Given the description of an element on the screen output the (x, y) to click on. 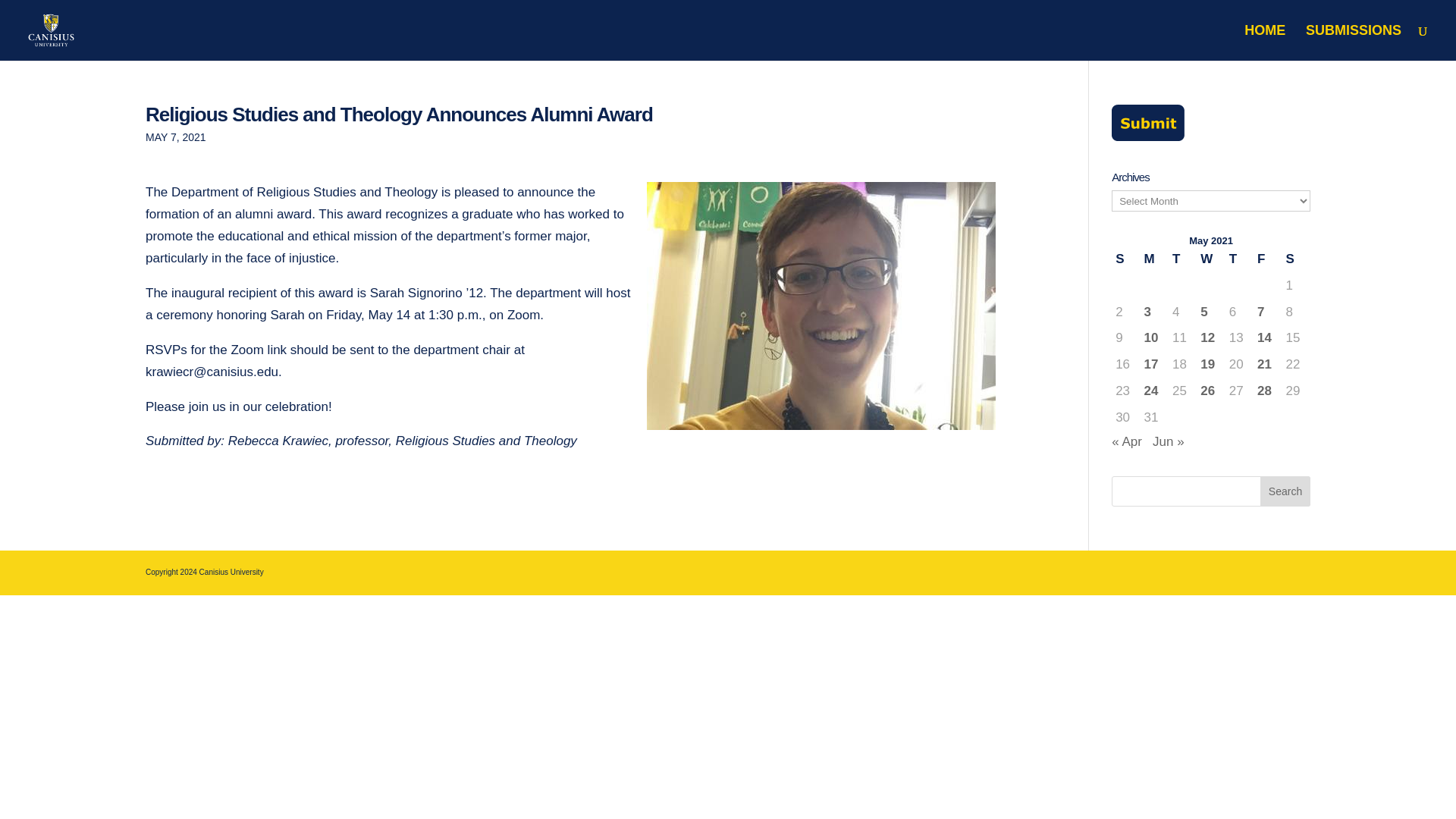
17 (1154, 364)
7 (1267, 312)
Tuesday (1182, 259)
Monday (1154, 259)
5 (1210, 312)
Friday (1267, 259)
24 (1154, 391)
28 (1267, 391)
21 (1267, 364)
Search (1285, 490)
